Given the description of an element on the screen output the (x, y) to click on. 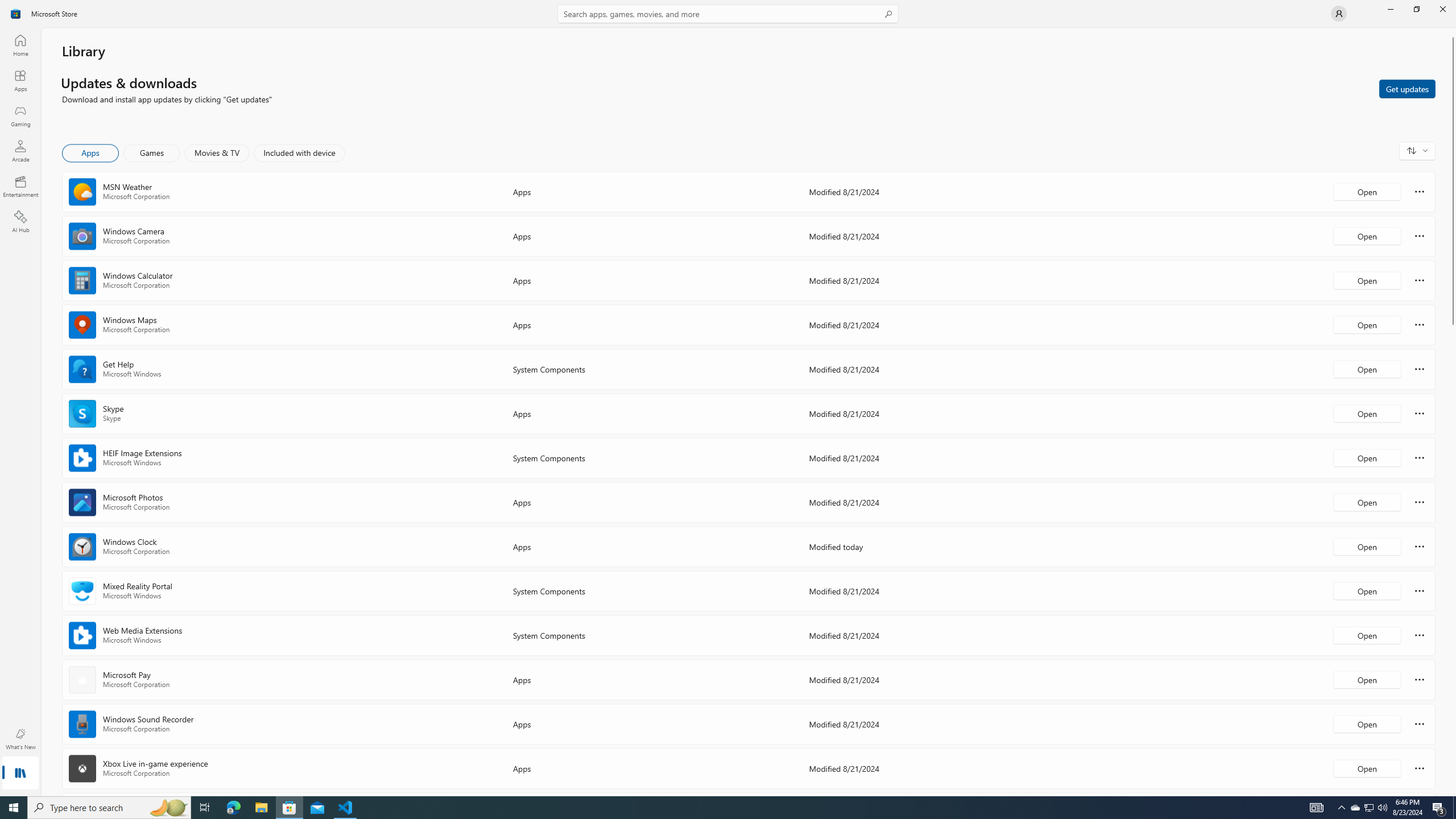
Movies & TV (216, 153)
Vertical Large Increase (1452, 557)
Sort and filter (1417, 149)
Included with device (299, 153)
Search (727, 13)
AutomationID: NavigationControl (728, 398)
Get updates (1406, 88)
